Given the description of an element on the screen output the (x, y) to click on. 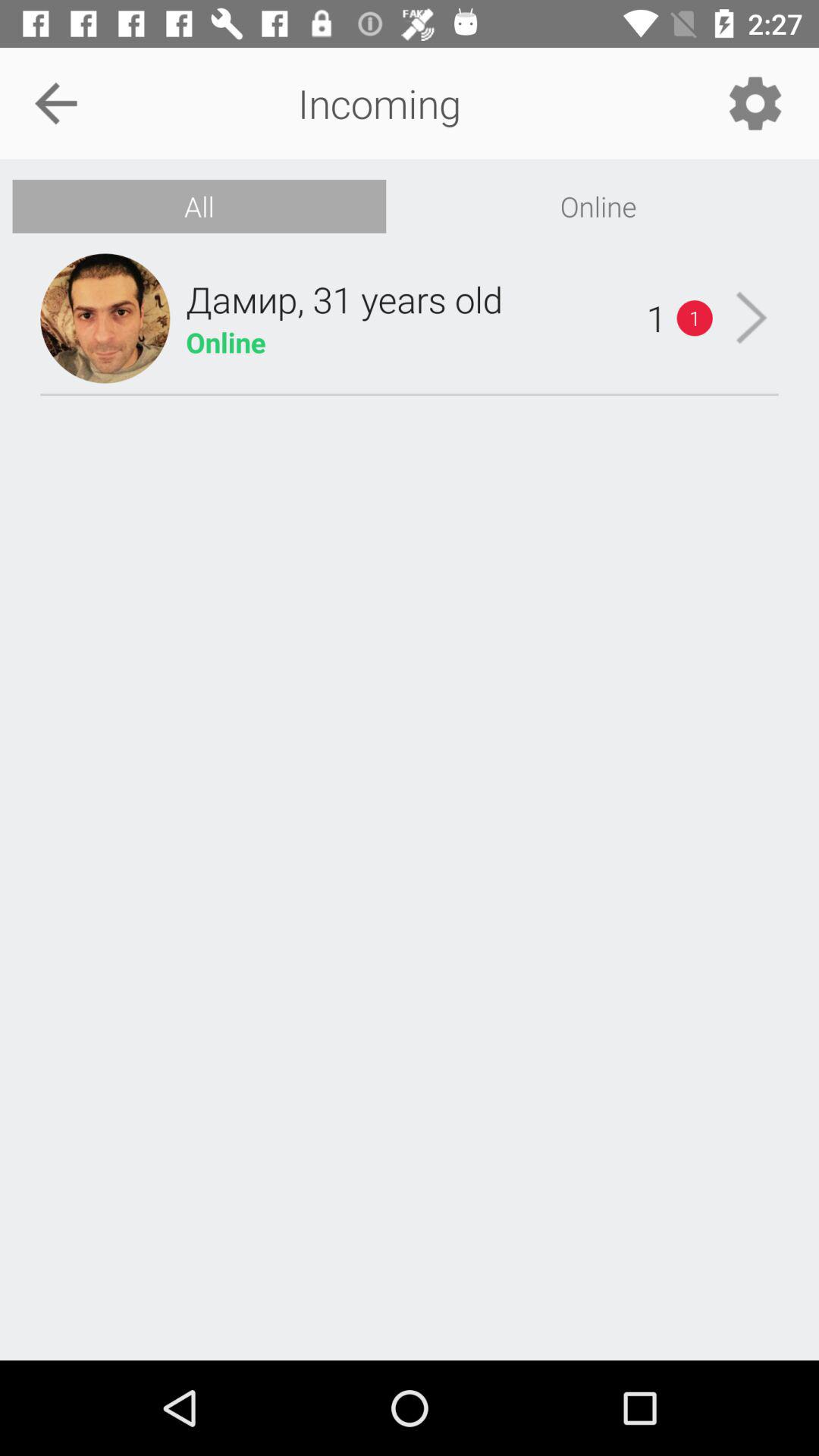
launch icon to the left of online (199, 206)
